Given the description of an element on the screen output the (x, y) to click on. 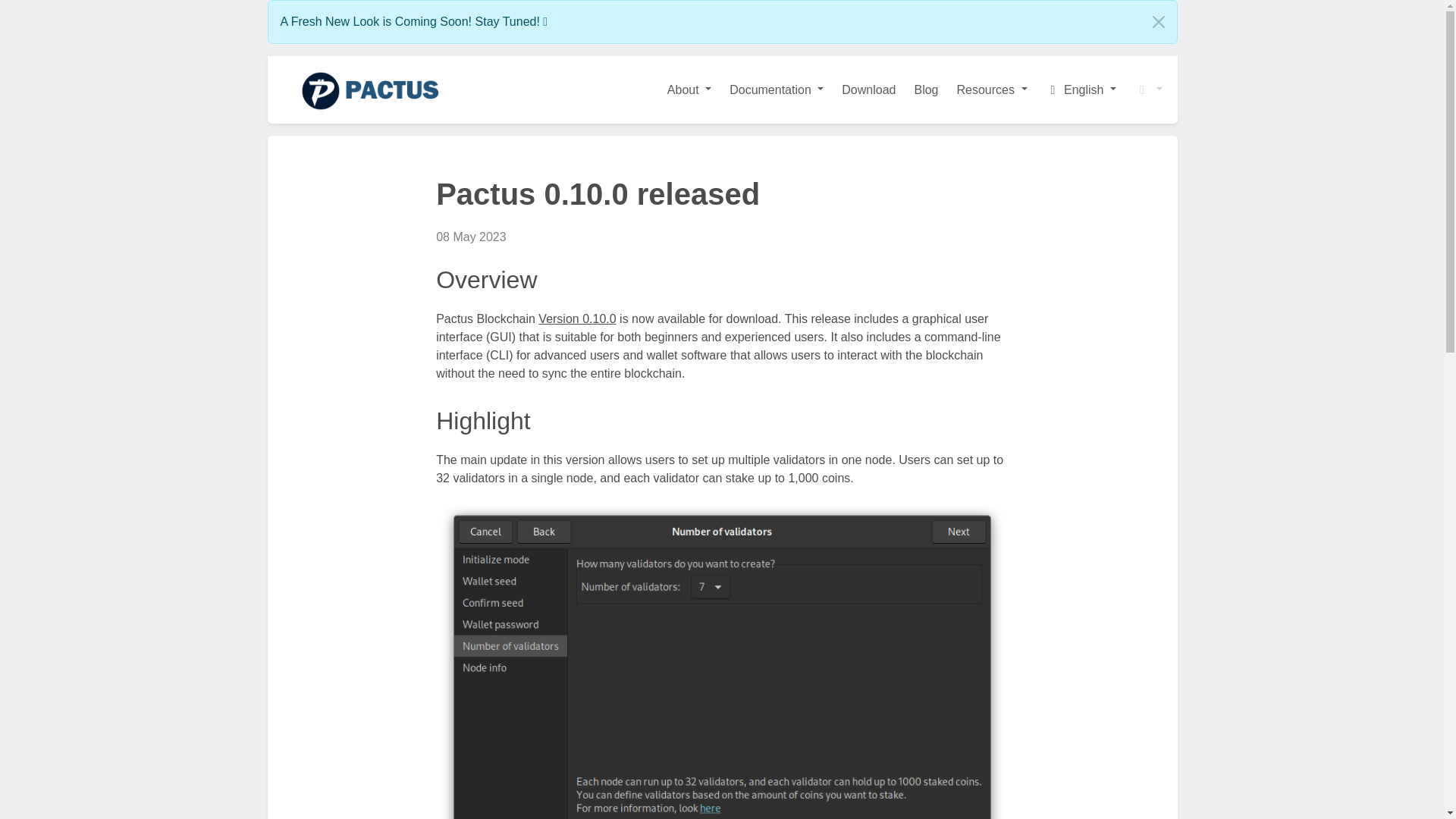
Version 0.10.0 (576, 318)
Download (868, 89)
About (689, 89)
Documentation (776, 89)
